Given the description of an element on the screen output the (x, y) to click on. 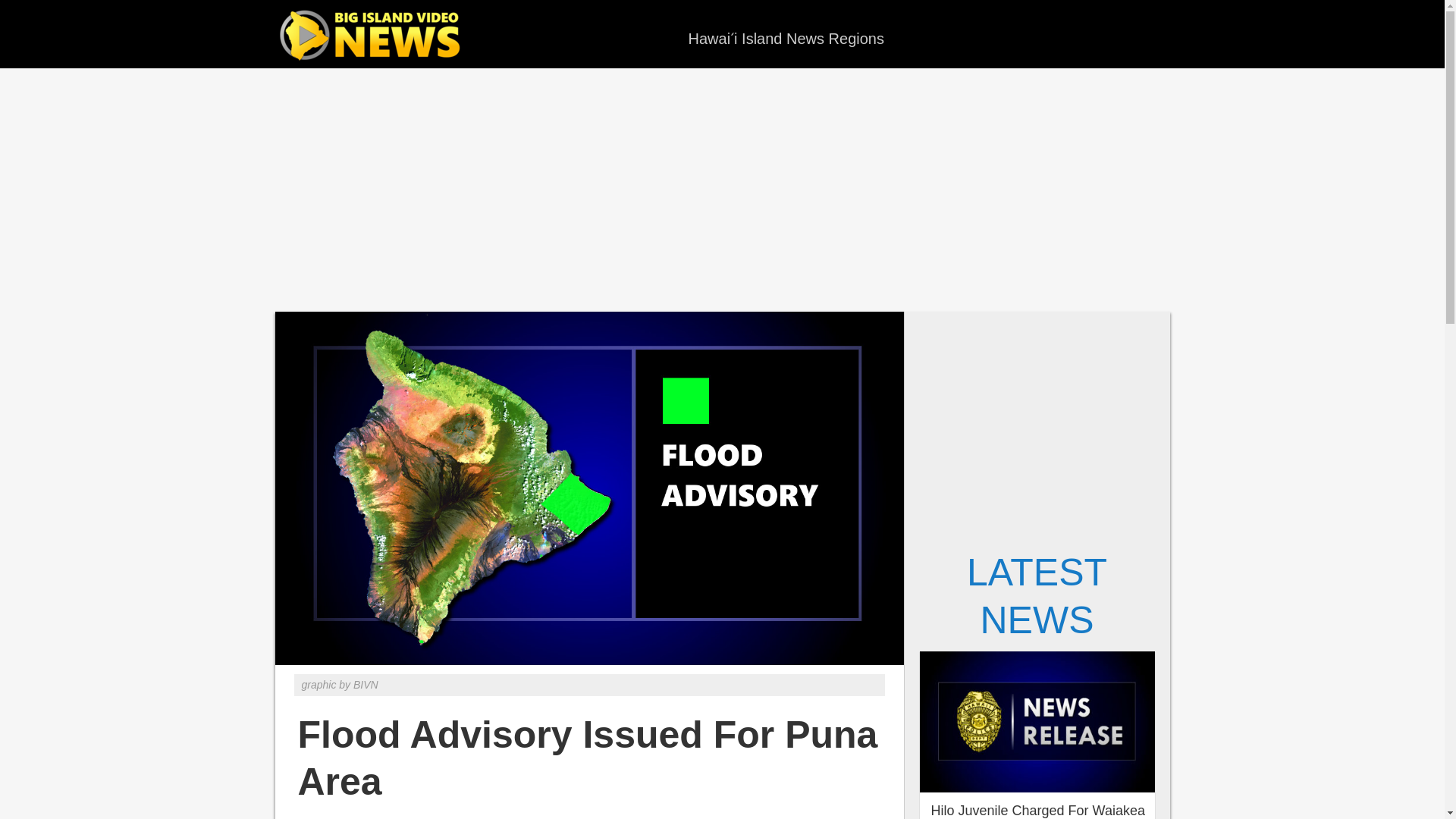
Advertisement (1037, 425)
Advertisement (721, 190)
Big Island Video News (373, 35)
Hilo Juvenile Charged For Waiakea School Property Crimes (1037, 811)
